Given the description of an element on the screen output the (x, y) to click on. 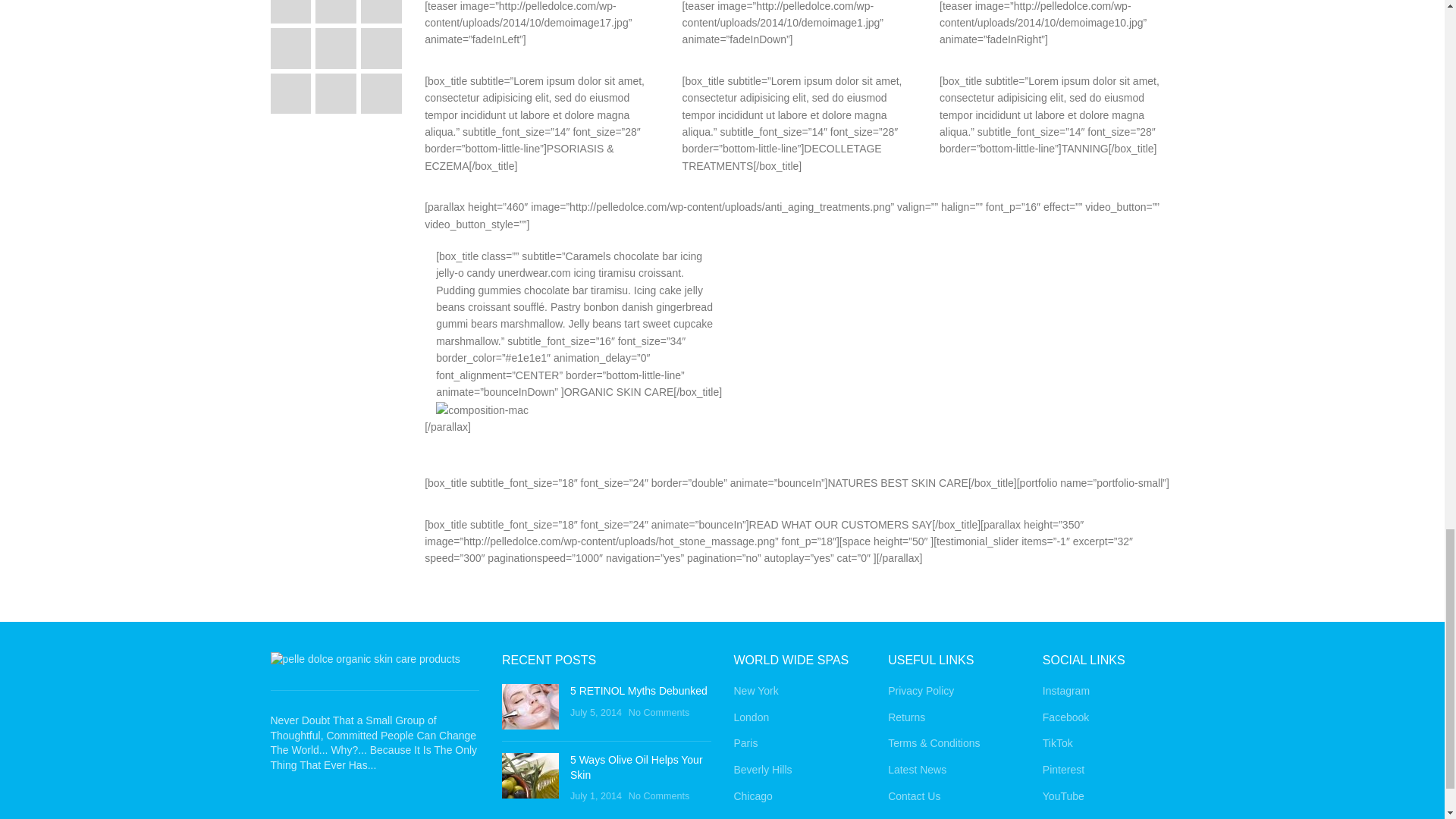
retinol (530, 706)
Permalink to 5 Ways Olive Oil Helps Your Skin (636, 767)
Permalink to 5 RETINOL Myths Debunked (638, 690)
